Given the description of an element on the screen output the (x, y) to click on. 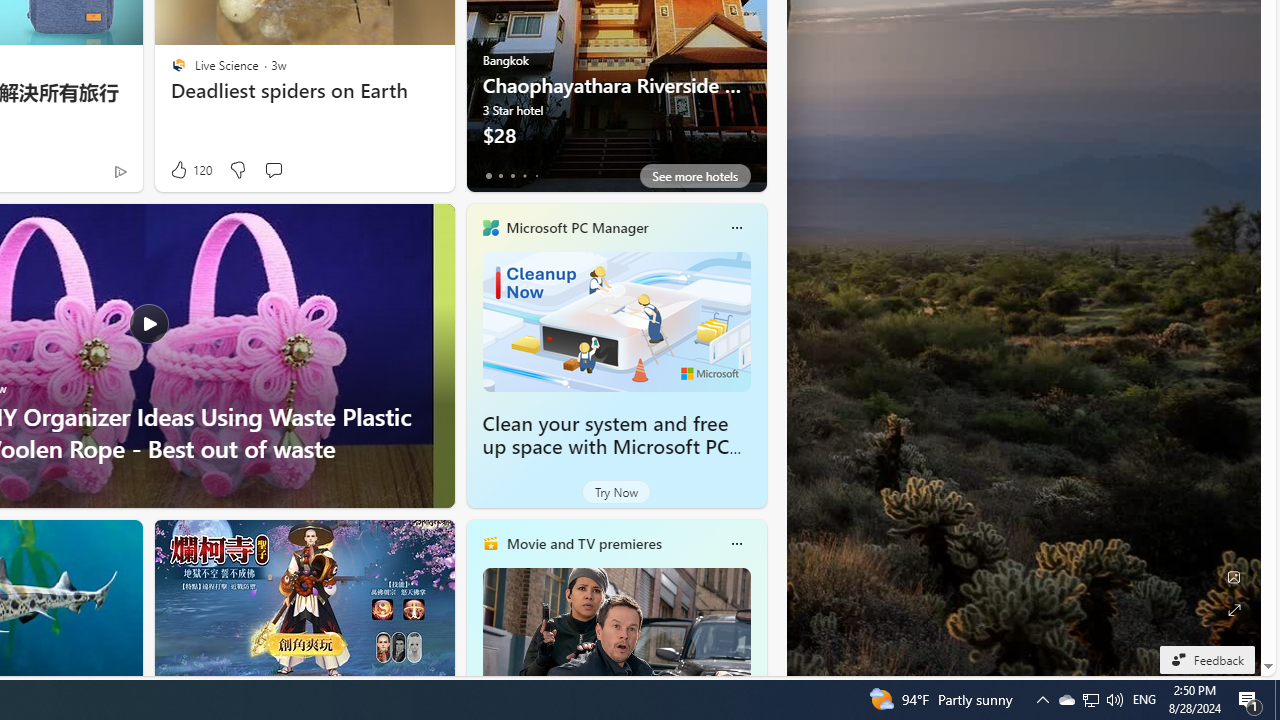
Edit Background (1233, 577)
Expand background (1233, 610)
tab-3 (524, 175)
